Given the description of an element on the screen output the (x, y) to click on. 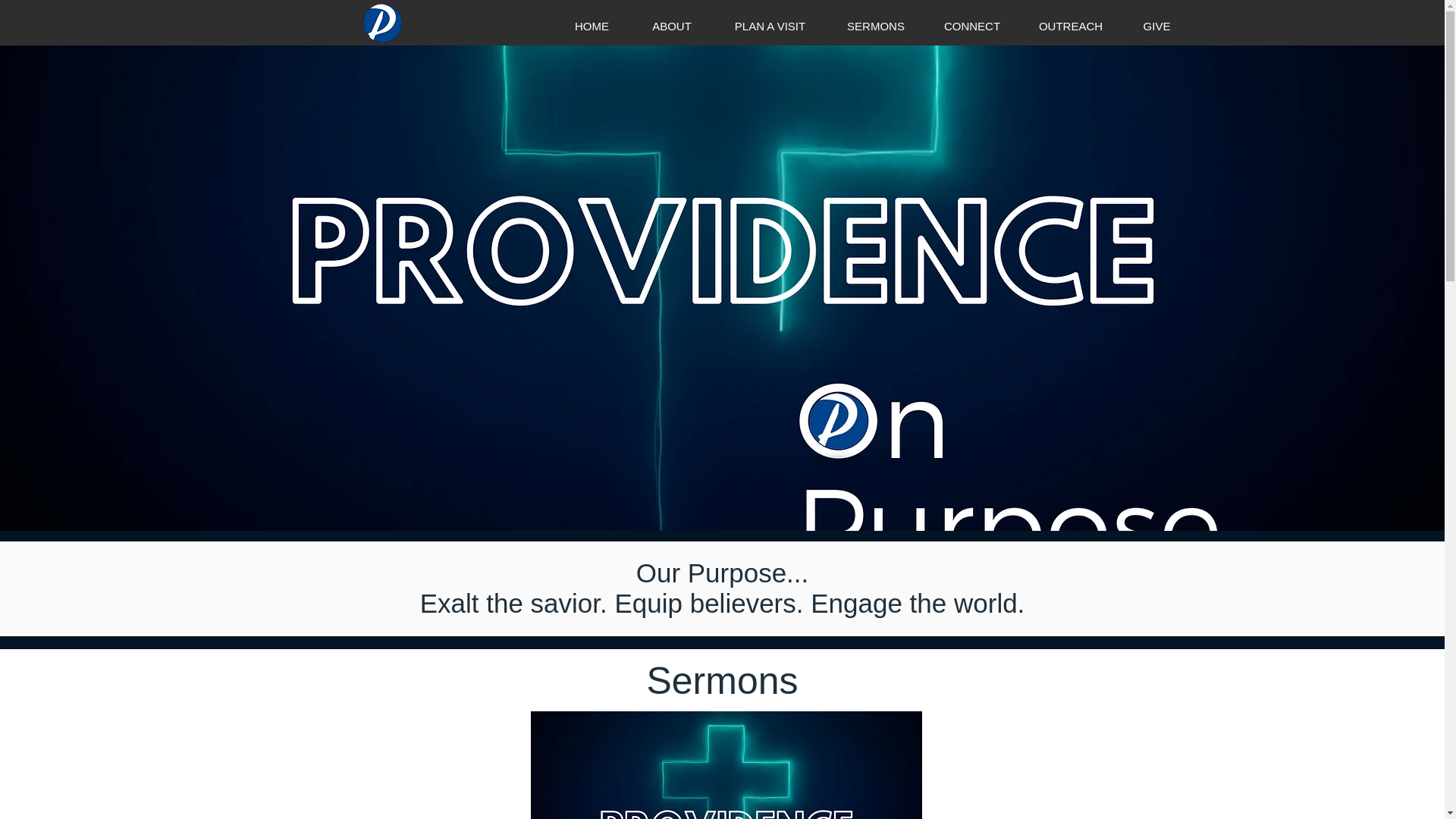
GIVE (1157, 26)
PLAN A VISIT (770, 26)
HOME (591, 26)
SERMONS (875, 26)
